Given the description of an element on the screen output the (x, y) to click on. 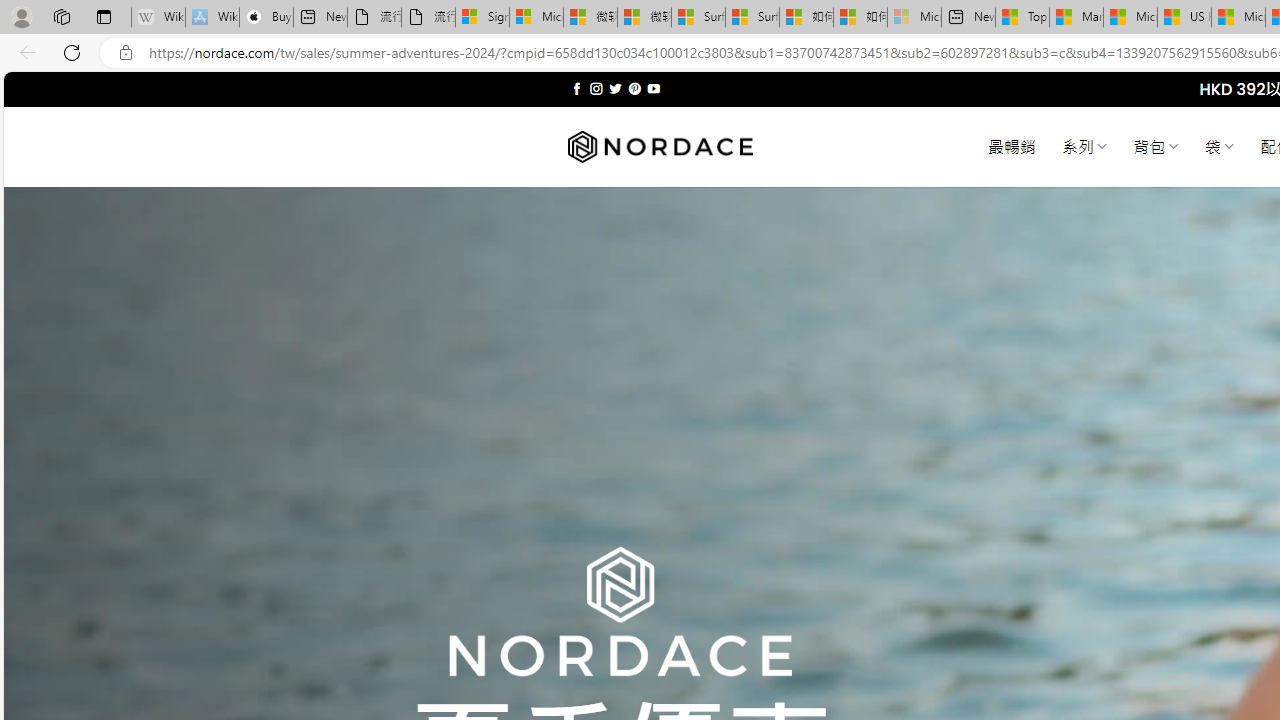
Microsoft account | Account Checkup - Sleeping (914, 17)
Top Stories - MSN (1022, 17)
Follow on Pinterest (634, 88)
Marine life - MSN (1076, 17)
Follow on Twitter (615, 88)
Sign in to your Microsoft account (482, 17)
